Given the description of an element on the screen output the (x, y) to click on. 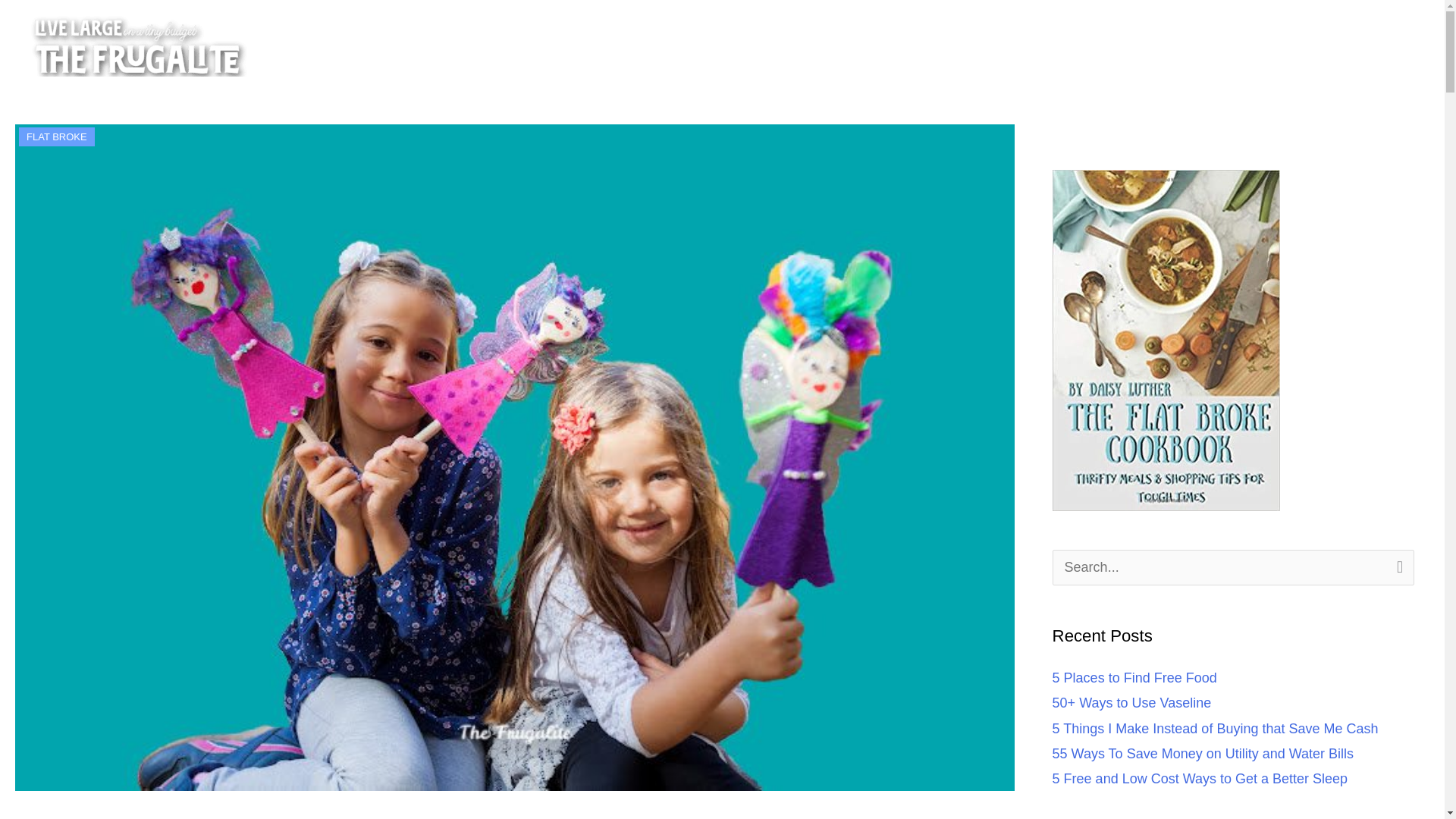
FLAT BROKE (56, 136)
Frugalicious Food (812, 45)
Home Cheap Home (964, 45)
Budget Beauty (1291, 45)
Managing Money (667, 45)
Flat Broke (1182, 45)
Thrift Life (1090, 45)
